Given the description of an element on the screen output the (x, y) to click on. 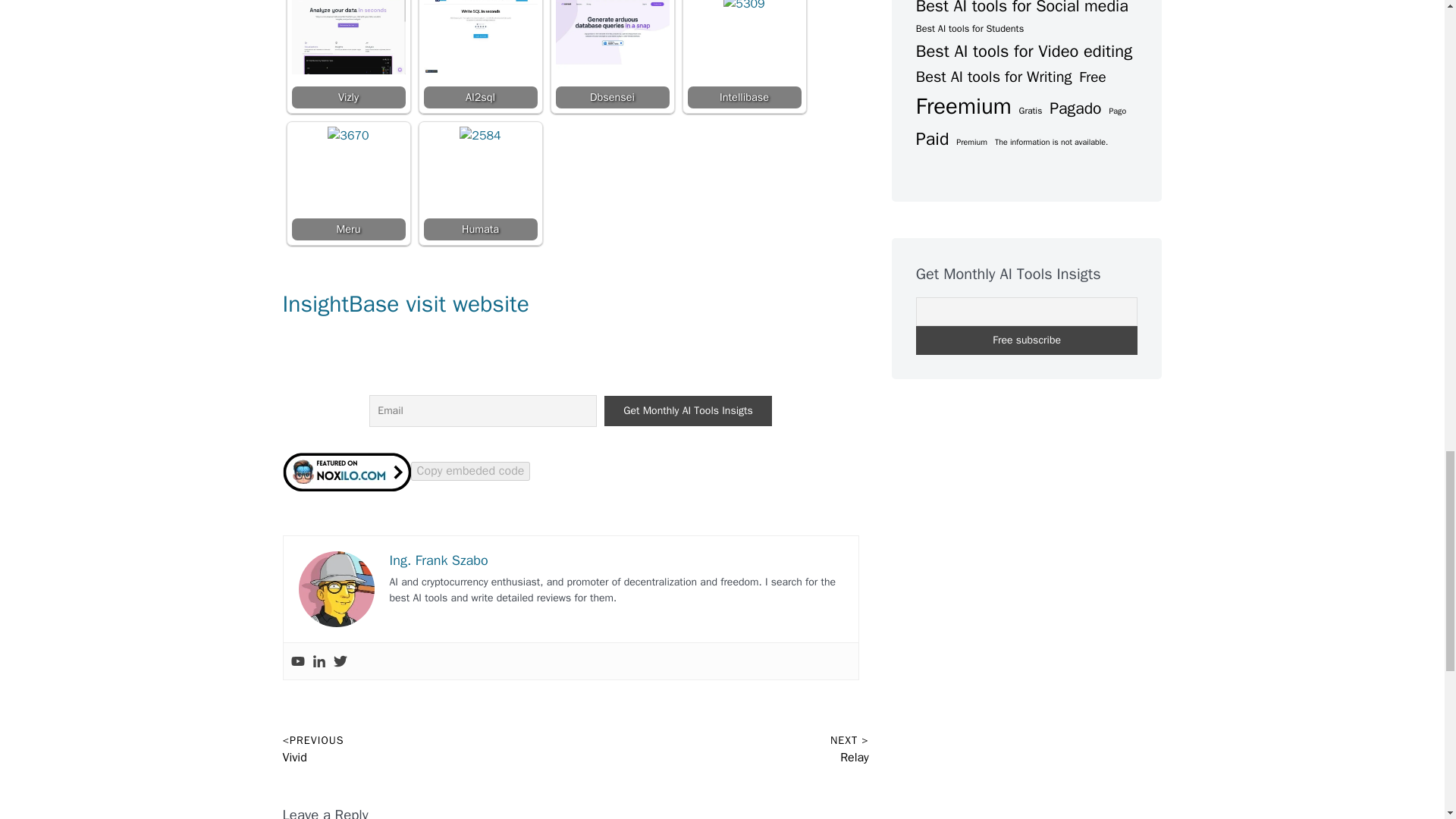
AI2sql (480, 54)
Meru (347, 146)
Humata (480, 183)
Meru (347, 183)
Ing. Frank Szabo (438, 560)
Dbsensei (611, 54)
Linkedin (319, 661)
Get Monthly AI Tools Insigts (687, 410)
AI2sql (480, 36)
InsightBase visit website (405, 303)
Intellibase (743, 54)
Twitter (340, 661)
Youtube (297, 661)
Vizly (347, 54)
Get Monthly AI Tools Insigts (687, 410)
